Given the description of an element on the screen output the (x, y) to click on. 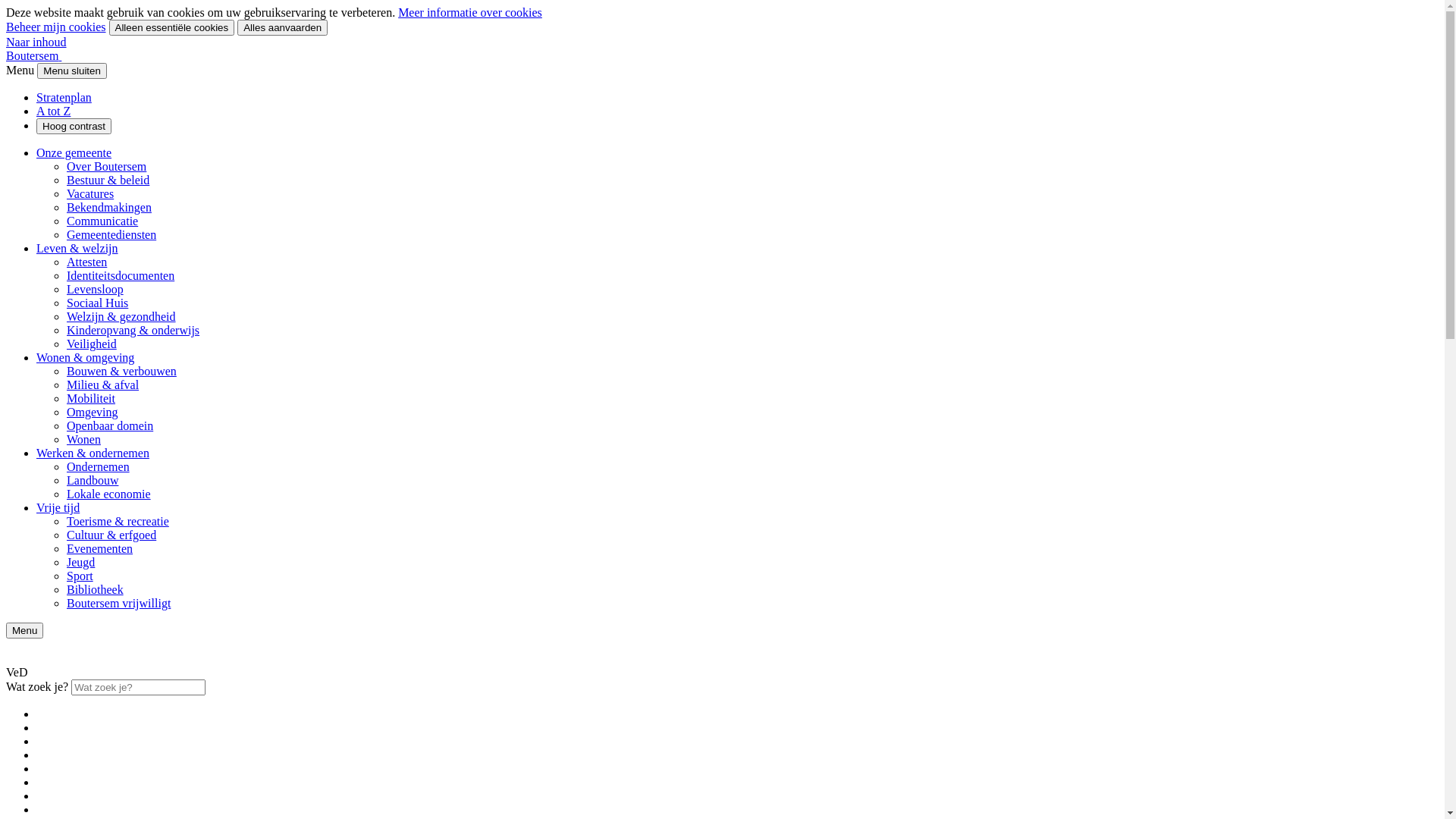
A tot Z Element type: text (53, 110)
Over Boutersem Element type: text (106, 166)
Lokale economie Element type: text (108, 493)
Bouwen & verbouwen Element type: text (121, 370)
Onze gemeente Element type: text (73, 152)
Wonen Element type: text (83, 439)
Sport Element type: text (79, 575)
Openbaar domein Element type: text (109, 425)
Communicatie Element type: text (102, 220)
Sociaal Huis Element type: text (97, 302)
Hoog contrast Element type: text (73, 126)
Ondernemen Element type: text (97, 466)
Boutersem vrijwilligt Element type: text (118, 602)
Toerisme & recreatie Element type: text (117, 520)
Bibliotheek Element type: text (94, 589)
Levensloop Element type: text (94, 288)
Wonen & omgeving Element type: text (85, 357)
Omgeving Element type: text (92, 411)
Veiligheid Element type: text (91, 343)
Gemeentediensten Element type: text (111, 234)
Kinderopvang & onderwijs Element type: text (132, 329)
Naar inhoud Element type: text (36, 41)
Werken & ondernemen Element type: text (92, 452)
Mobiliteit Element type: text (90, 398)
Bestuur & beleid Element type: text (107, 179)
Evenementen Element type: text (99, 548)
Attesten Element type: text (86, 261)
Beheer mijn cookies Element type: text (56, 26)
Menu sluiten Element type: text (71, 70)
Bekendmakingen Element type: text (108, 206)
Vacatures Element type: text (89, 193)
Meer informatie over cookies Element type: text (470, 12)
Landbouw Element type: text (92, 479)
Jeugd Element type: text (80, 561)
Leven & welzijn Element type: text (77, 247)
Stratenplan Element type: text (63, 97)
Menu Element type: text (24, 630)
Welzijn & gezondheid Element type: text (120, 316)
Boutersem Element type: text (33, 55)
Identiteitsdocumenten Element type: text (120, 275)
Alles aanvaarden Element type: text (282, 27)
Milieu & afval Element type: text (102, 384)
Vrije tijd Element type: text (57, 507)
Cultuur & erfgoed Element type: text (111, 534)
